Given the description of an element on the screen output the (x, y) to click on. 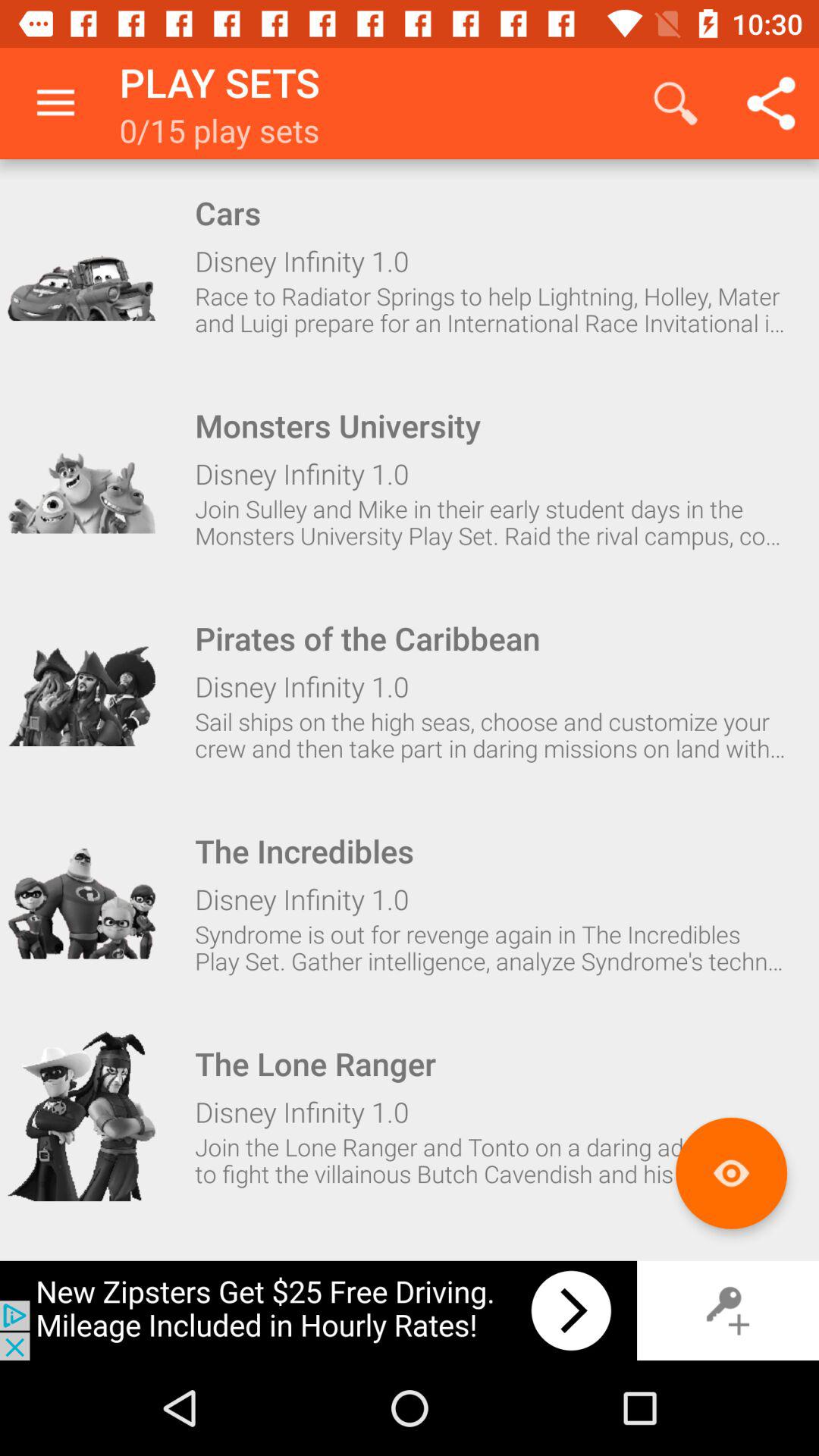
key (728, 1310)
